Given the description of an element on the screen output the (x, y) to click on. 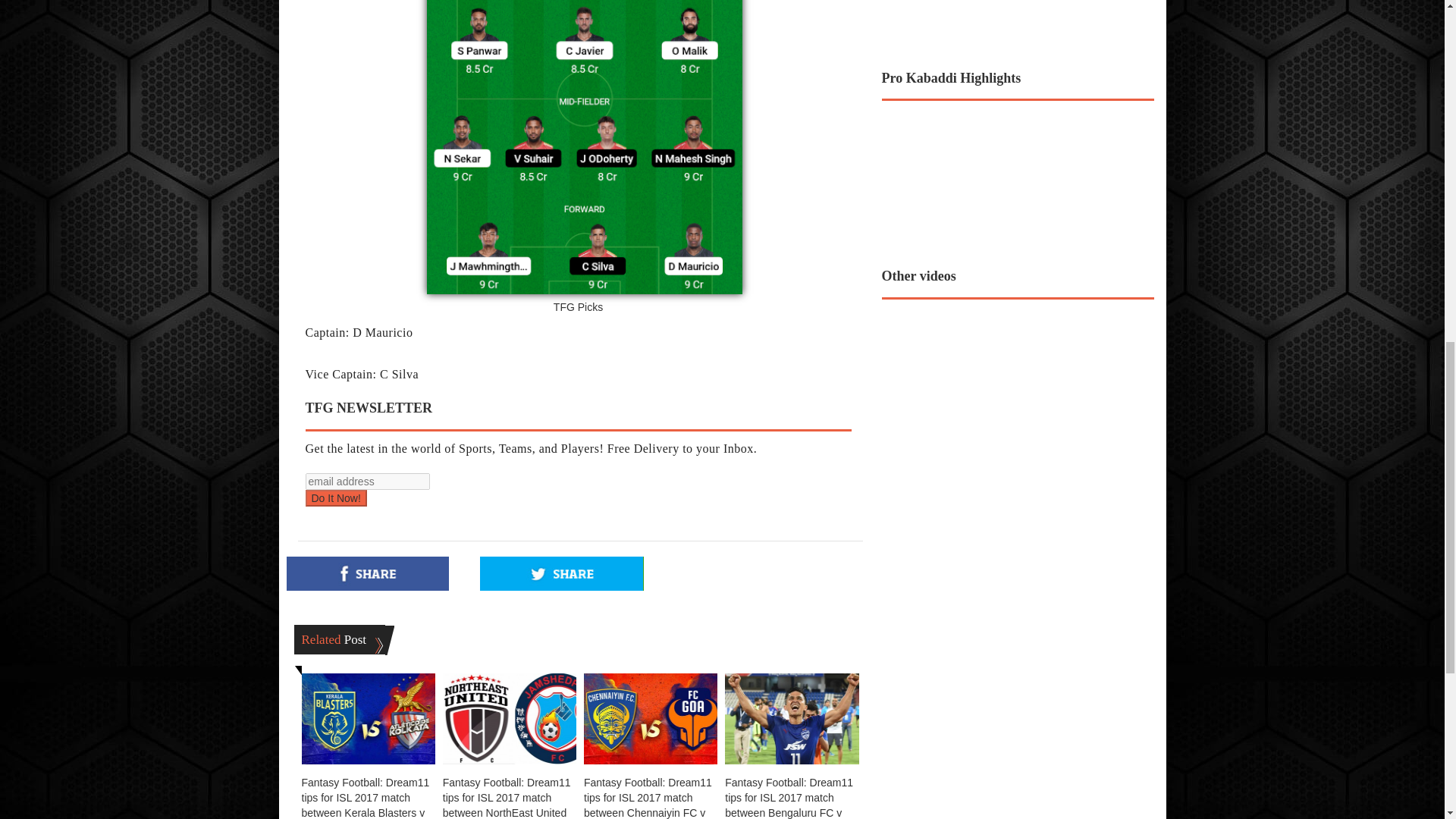
Do It Now! (335, 497)
